Given the description of an element on the screen output the (x, y) to click on. 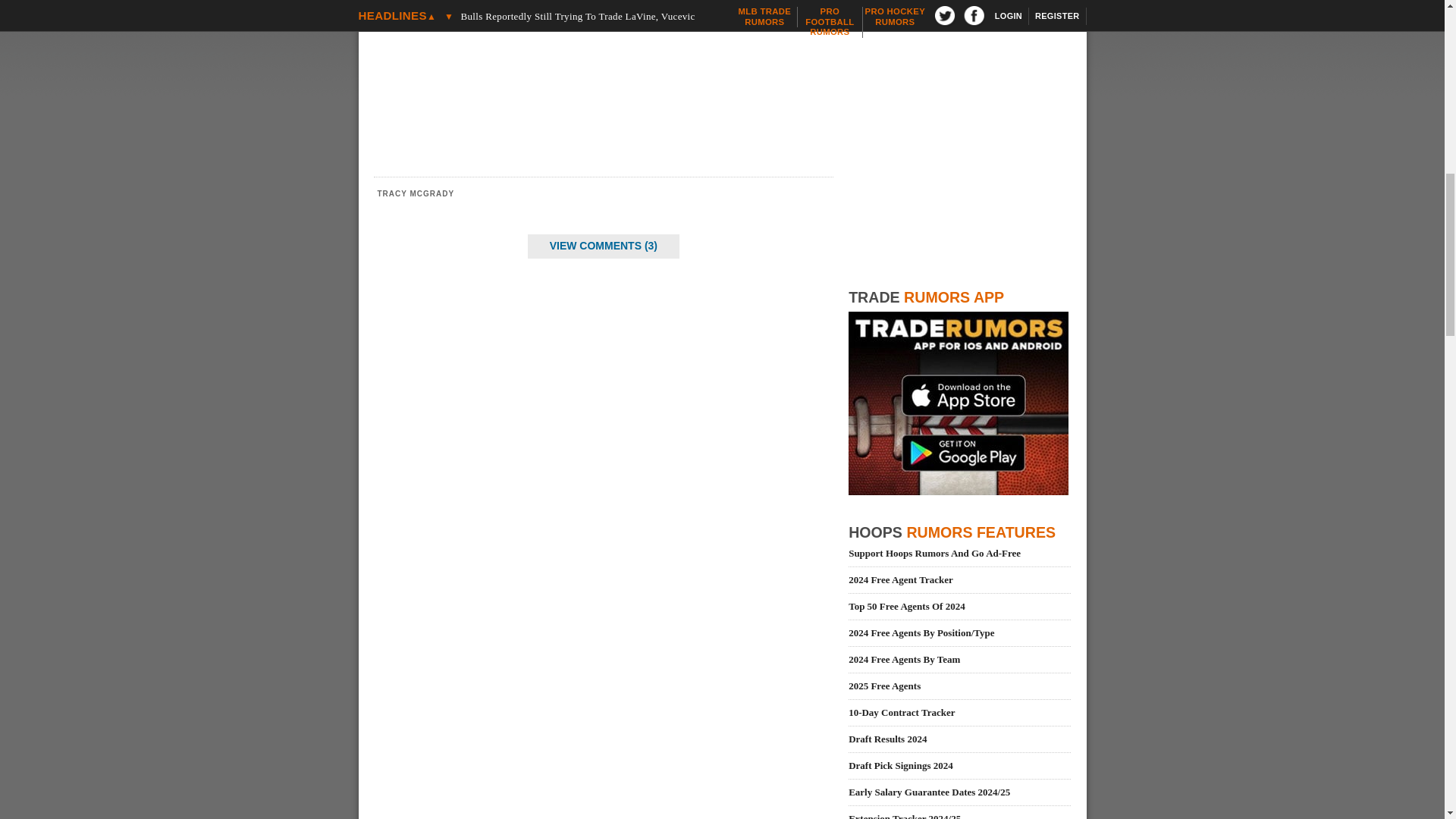
View all posts in Tracy McGrady (415, 193)
